Given the description of an element on the screen output the (x, y) to click on. 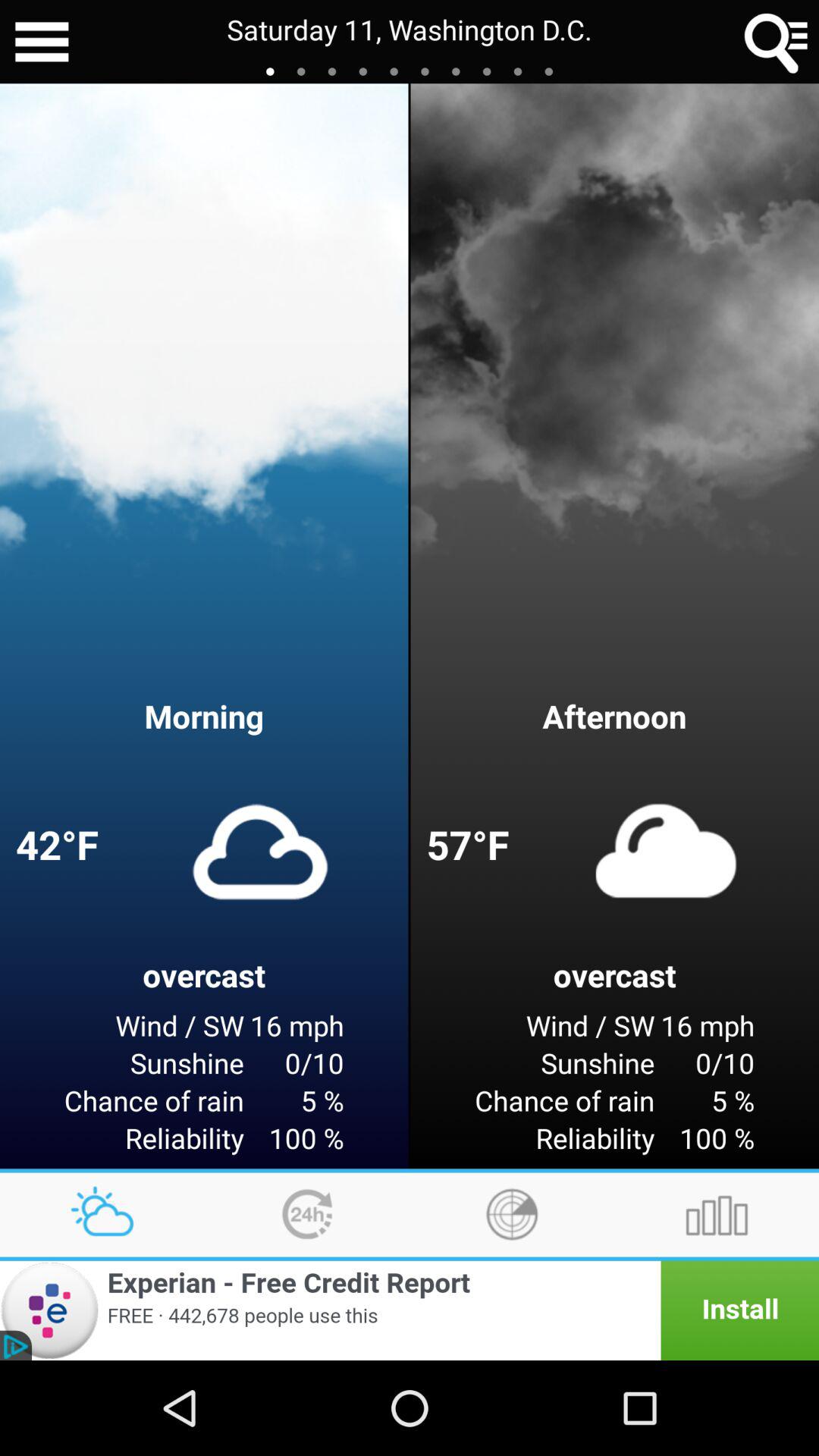
search (777, 41)
